Given the description of an element on the screen output the (x, y) to click on. 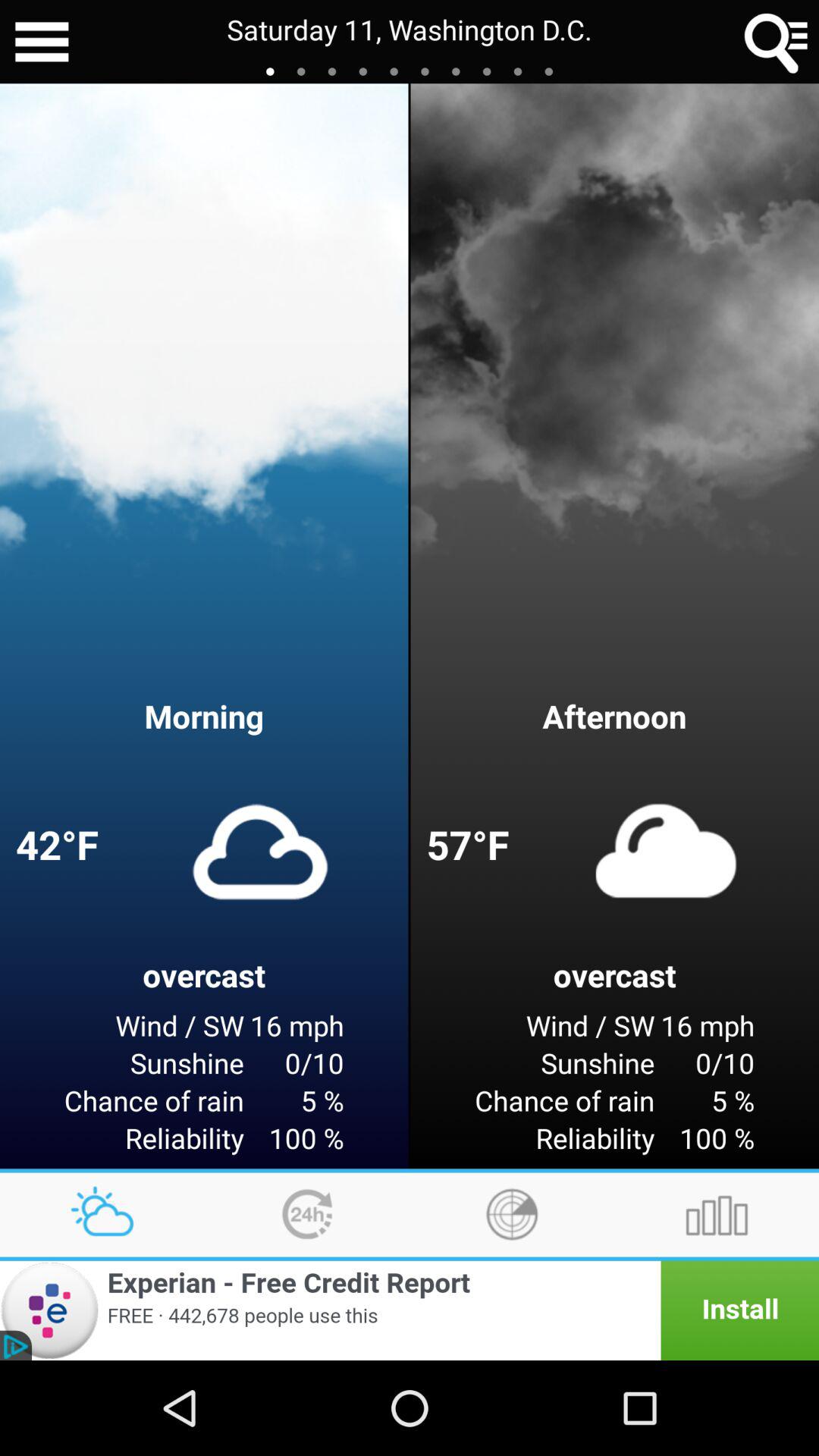
search (777, 41)
